Given the description of an element on the screen output the (x, y) to click on. 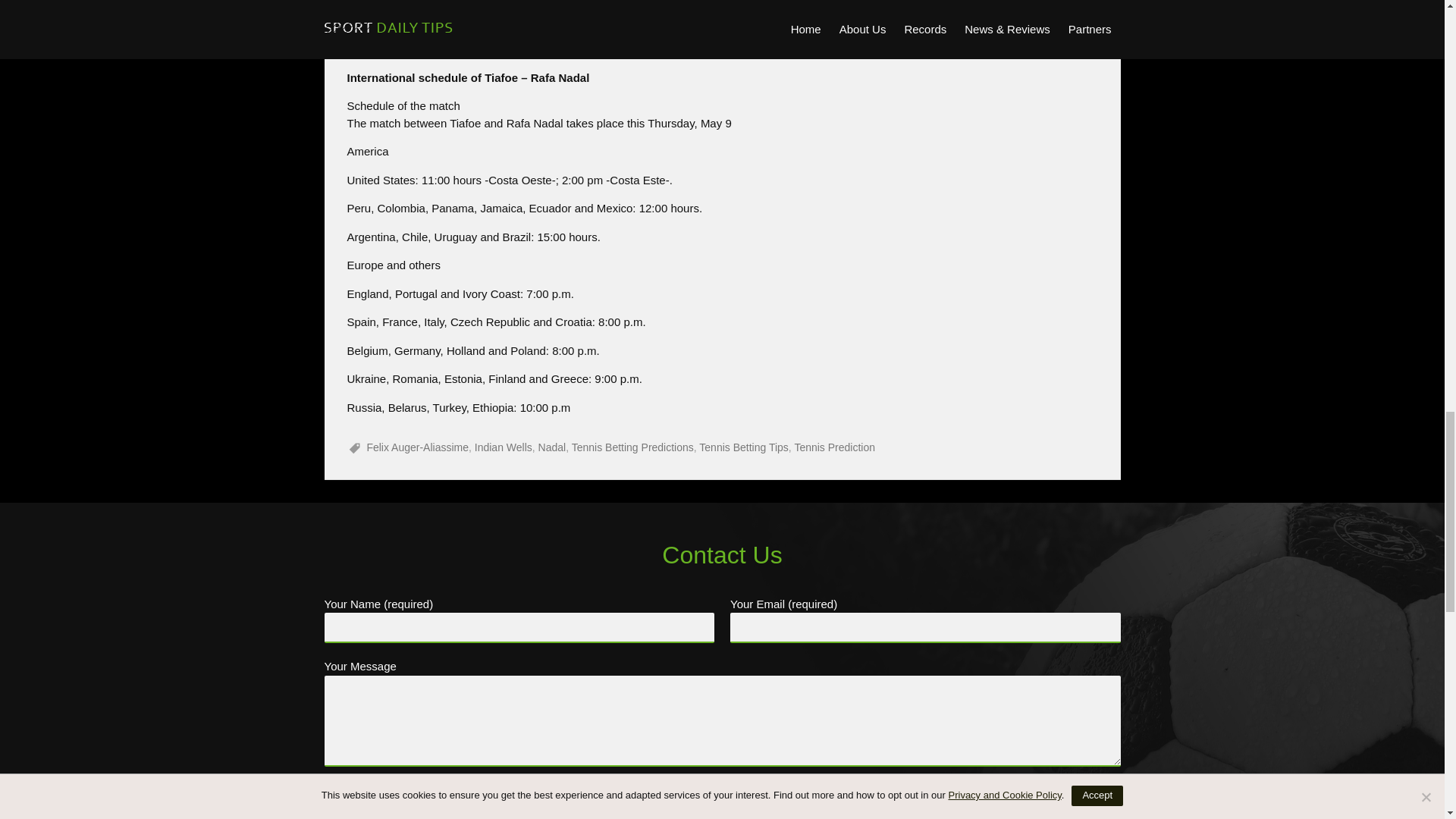
Nadal (552, 447)
Indian Wells (503, 447)
Felix Auger-Aliassime (417, 447)
1 (329, 788)
